Given the description of an element on the screen output the (x, y) to click on. 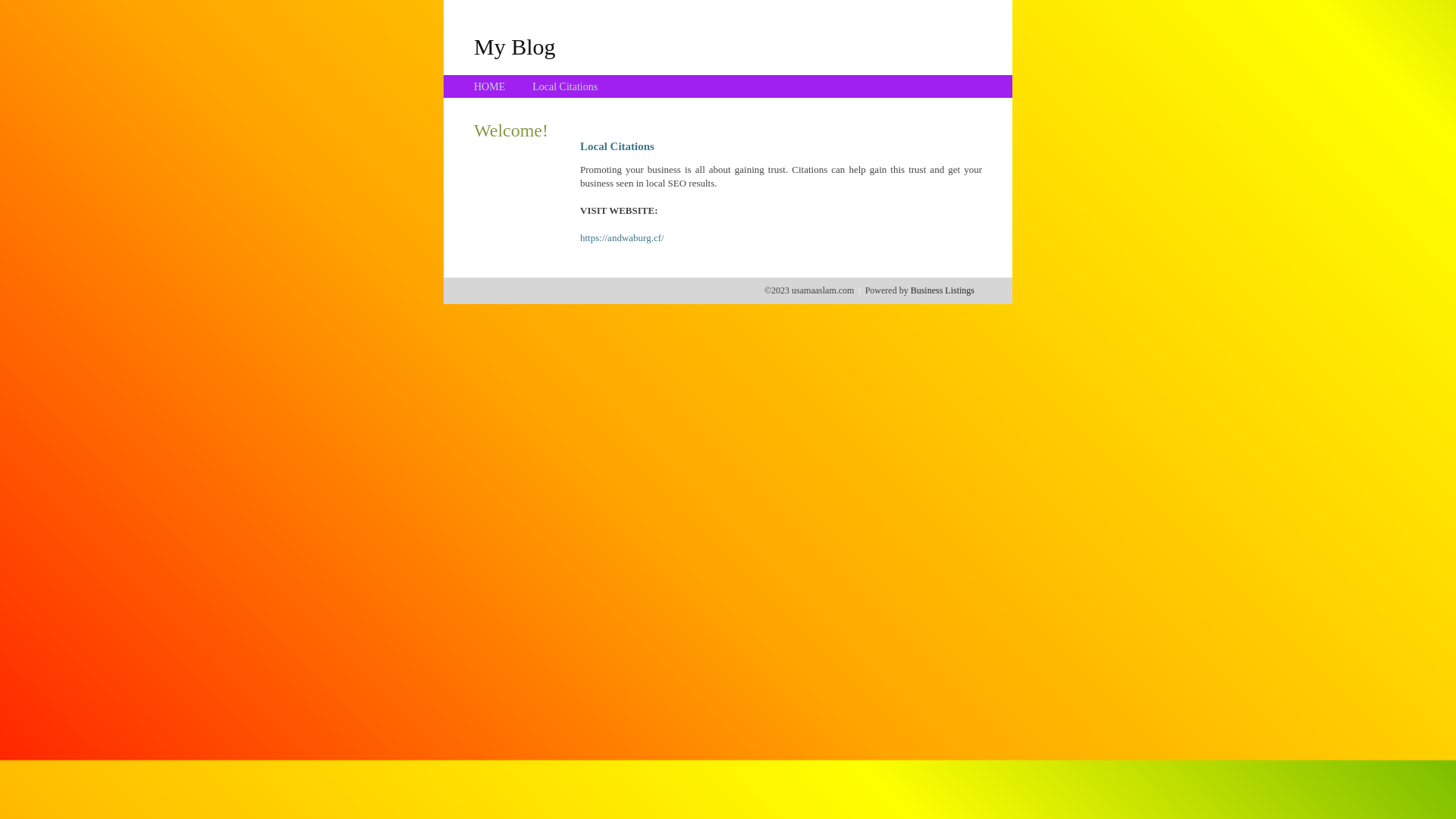
Local Citations Element type: text (564, 86)
Business Listings Element type: text (942, 290)
My Blog Element type: text (514, 46)
HOME Element type: text (489, 86)
https://andwaburg.cf/ Element type: text (622, 237)
